Given the description of an element on the screen output the (x, y) to click on. 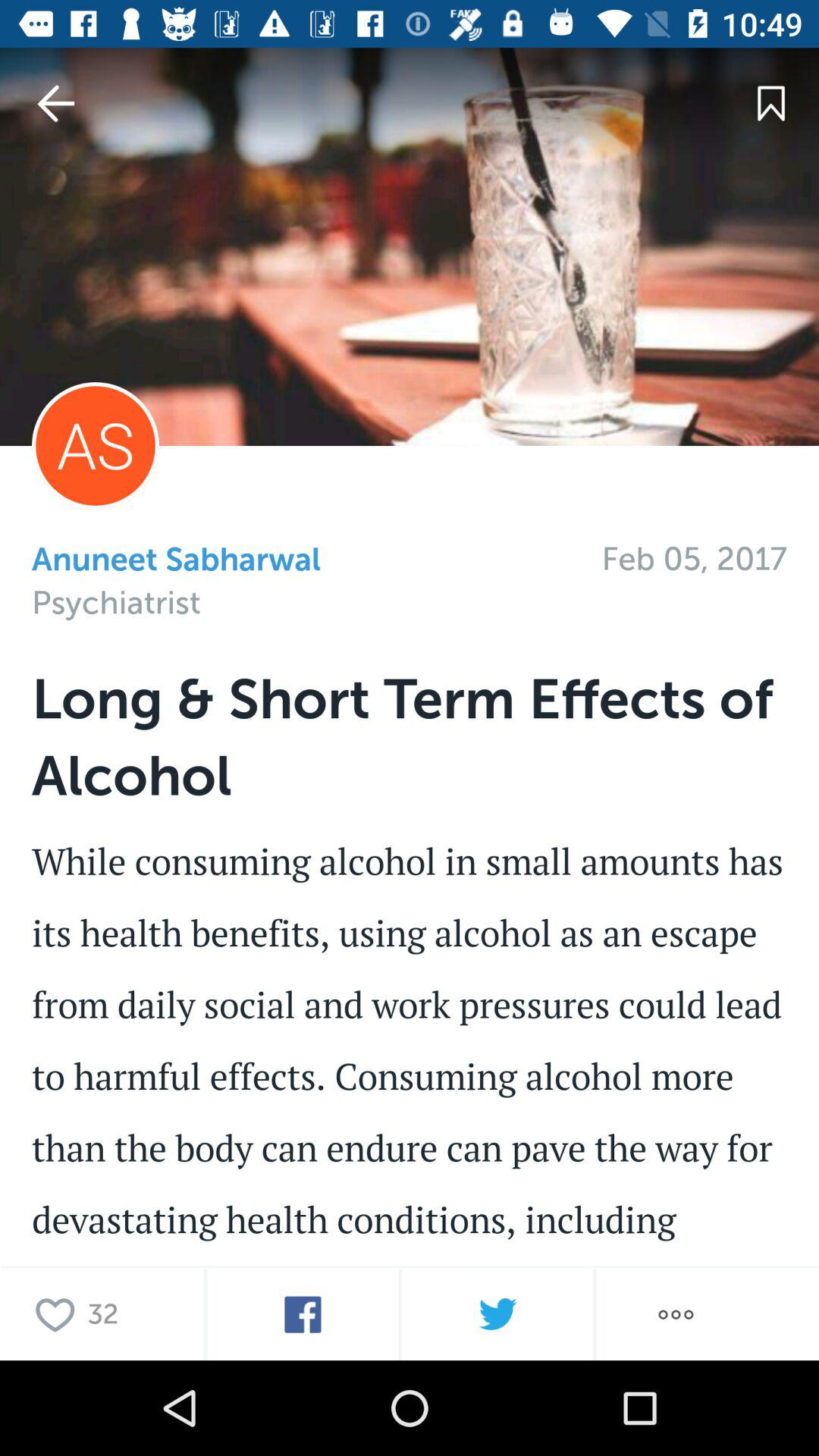
share to twitter (497, 1314)
